Given the description of an element on the screen output the (x, y) to click on. 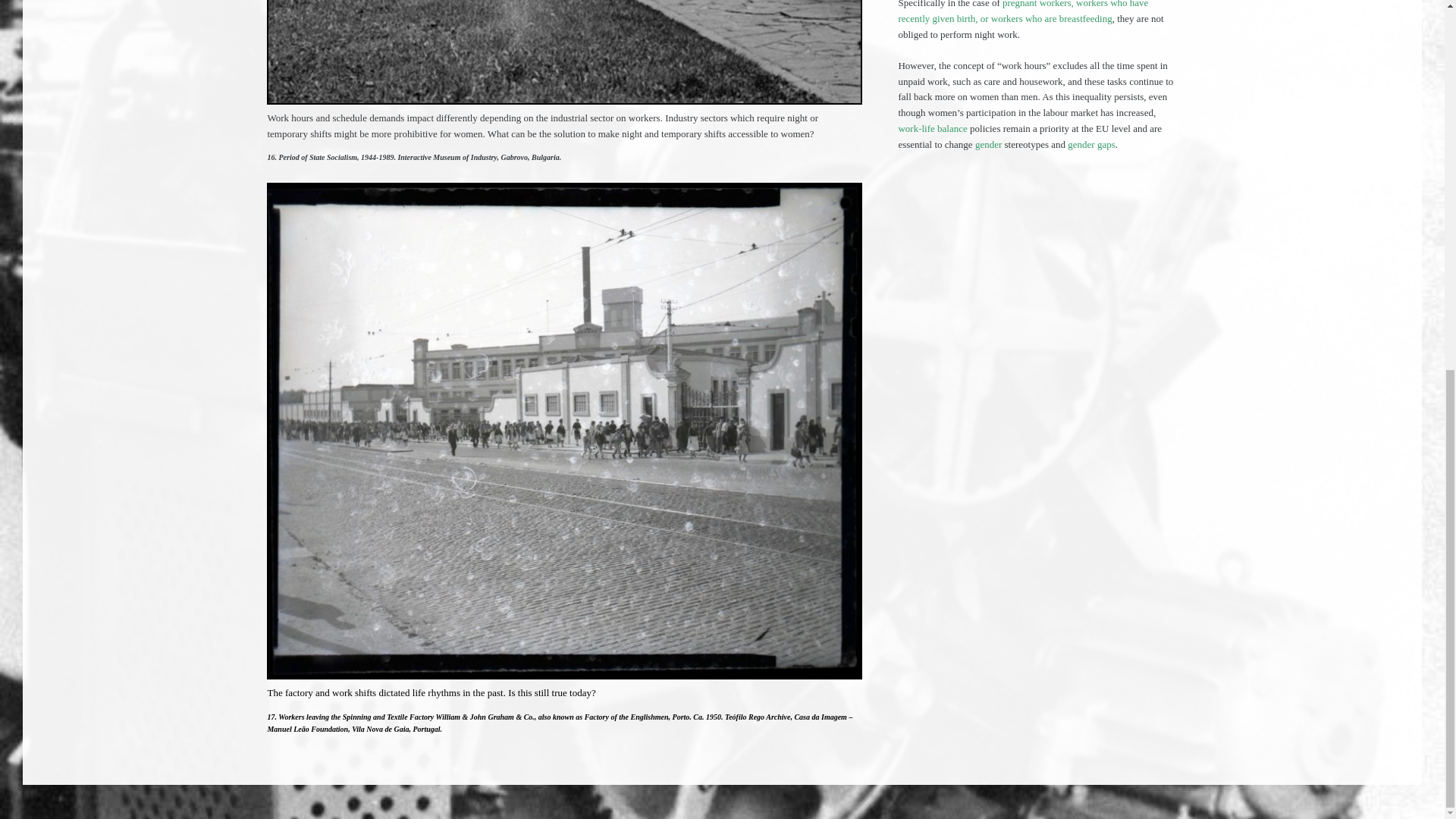
gender (988, 143)
19 (563, 51)
20 (563, 187)
gender gaps (1091, 143)
work-life balance (932, 128)
